Given the description of an element on the screen output the (x, y) to click on. 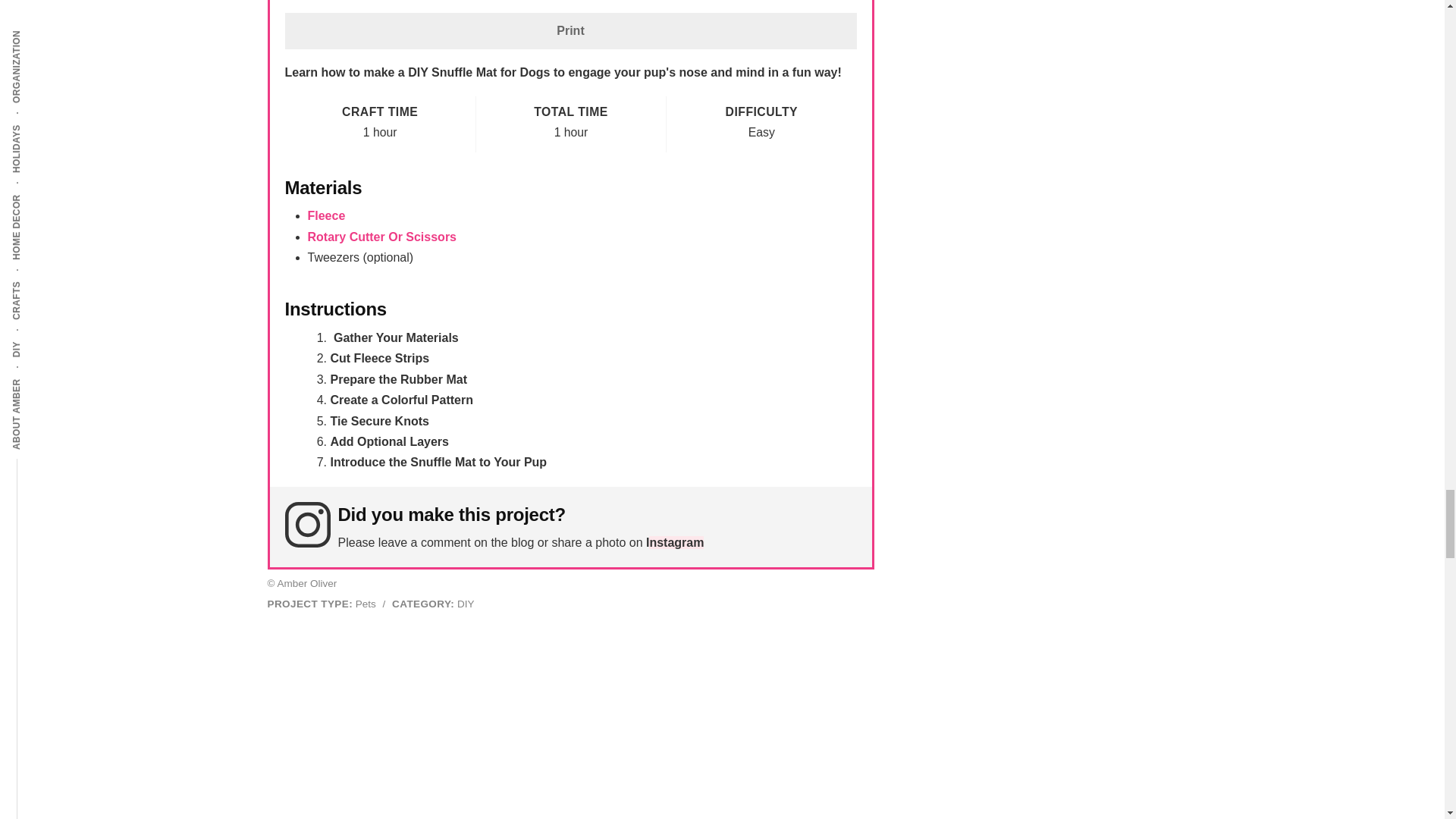
Fleece (326, 215)
Print (571, 31)
Rotary Cutter Or Scissors (382, 236)
Instagram (674, 542)
